Given the description of an element on the screen output the (x, y) to click on. 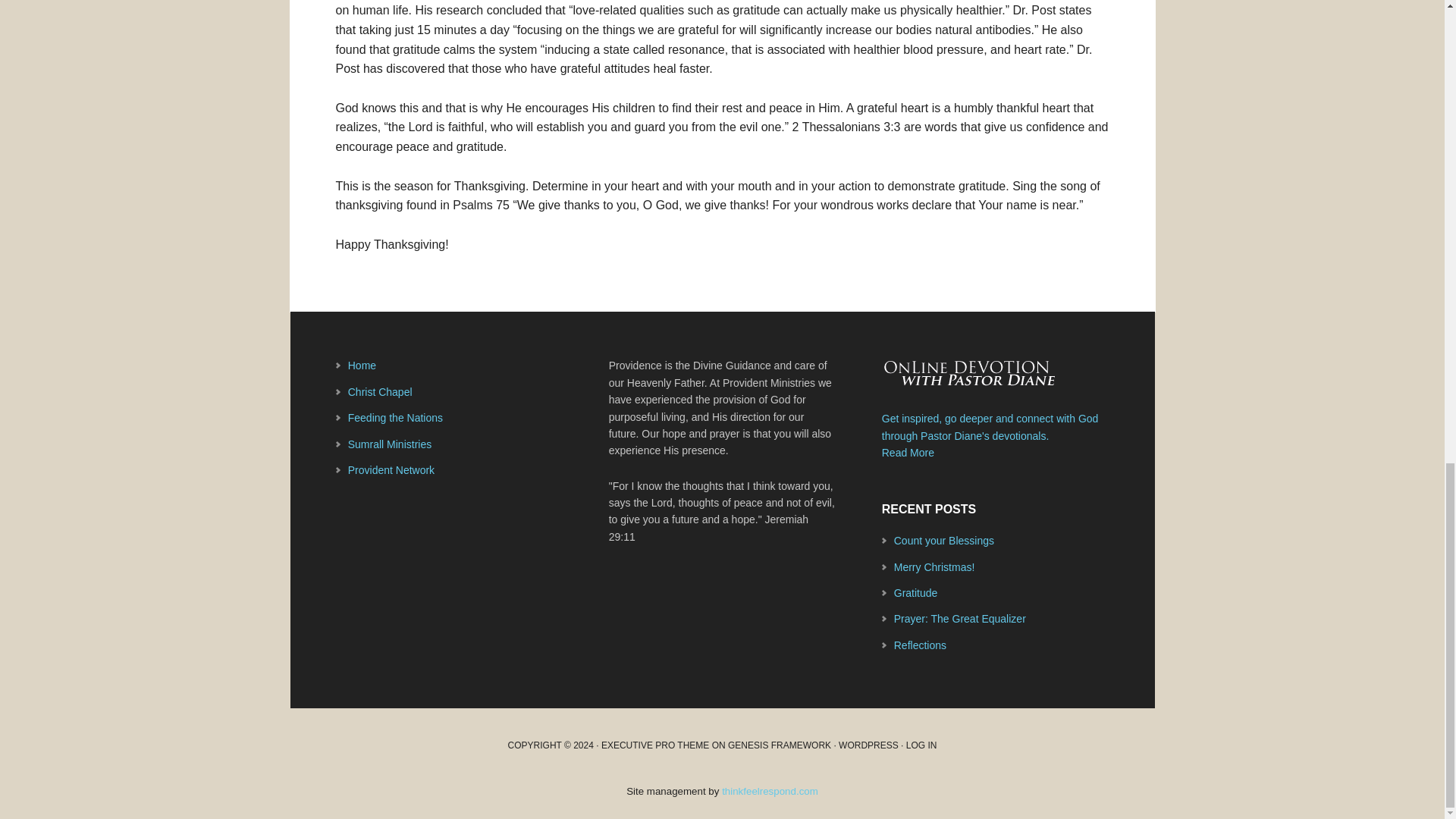
Gratitude (915, 592)
Merry Christmas! (934, 567)
Christ Chapel (379, 391)
thinkfeelrespond.com (770, 790)
EXECUTIVE PRO THEME (655, 745)
LOG IN (921, 745)
Prayer: The Great Equalizer (959, 618)
Sumrall Ministries (388, 444)
Feeding the Nations (394, 417)
Provident Network (390, 469)
GENESIS FRAMEWORK (779, 745)
Home (361, 365)
WORDPRESS (868, 745)
Count your Blessings (943, 540)
